Given the description of an element on the screen output the (x, y) to click on. 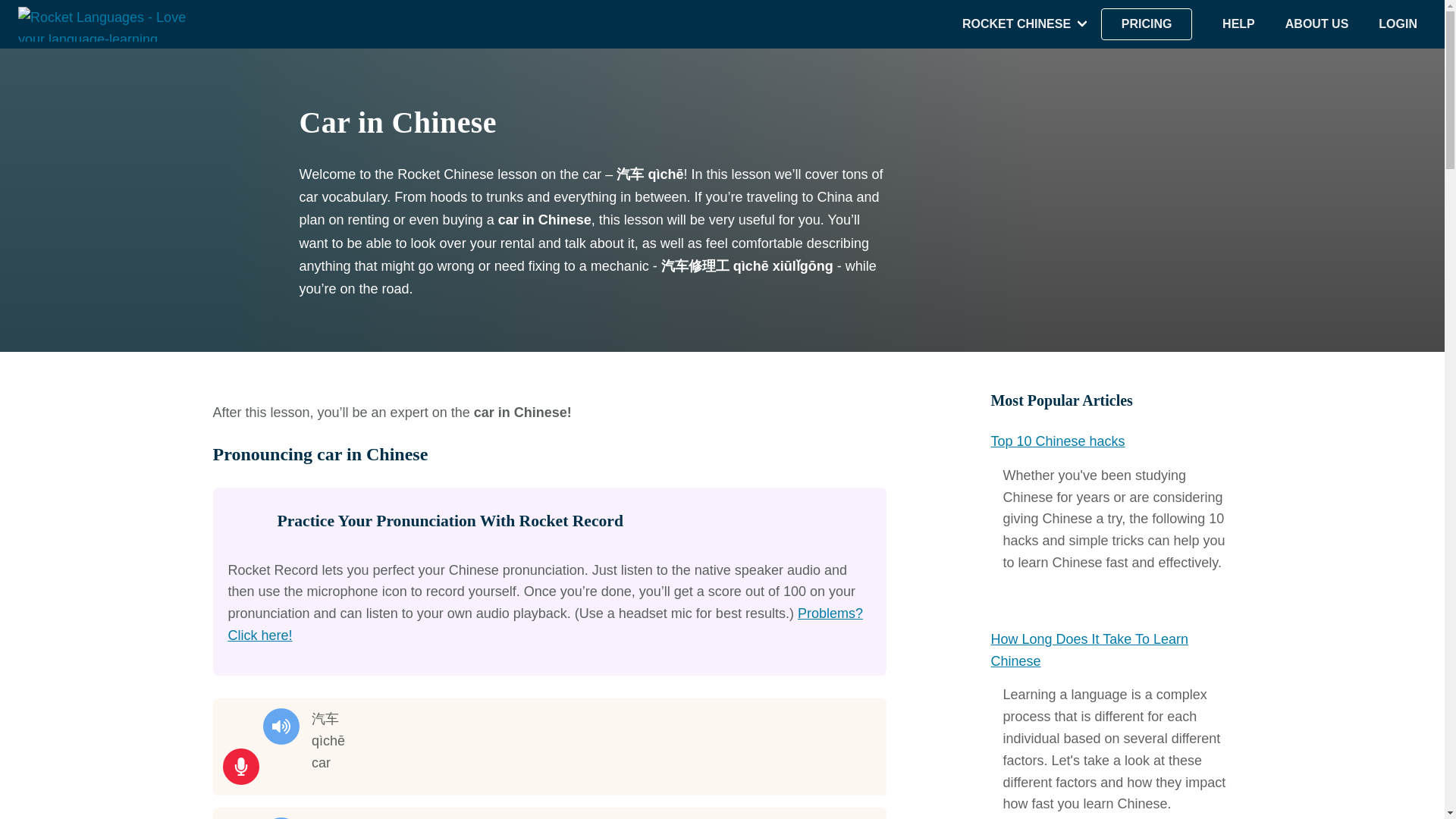
ABOUT US (1317, 24)
HELP (1239, 24)
ROCKET CHINESE (1016, 24)
Record (240, 766)
Rocket Languages - Love your language-learning journey (106, 23)
PRICING (1146, 24)
